Given the description of an element on the screen output the (x, y) to click on. 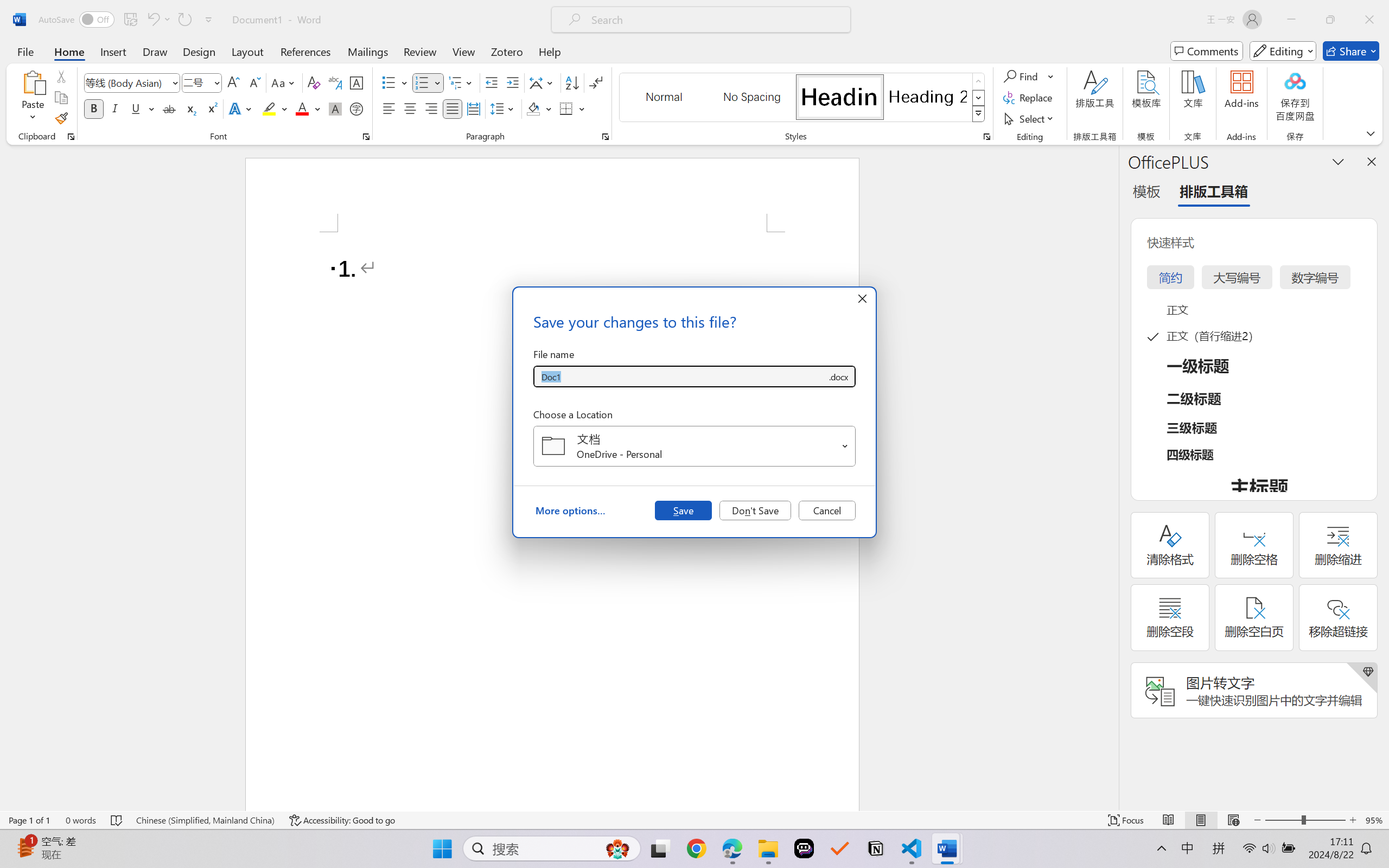
Choose a Location (694, 446)
